Given the description of an element on the screen output the (x, y) to click on. 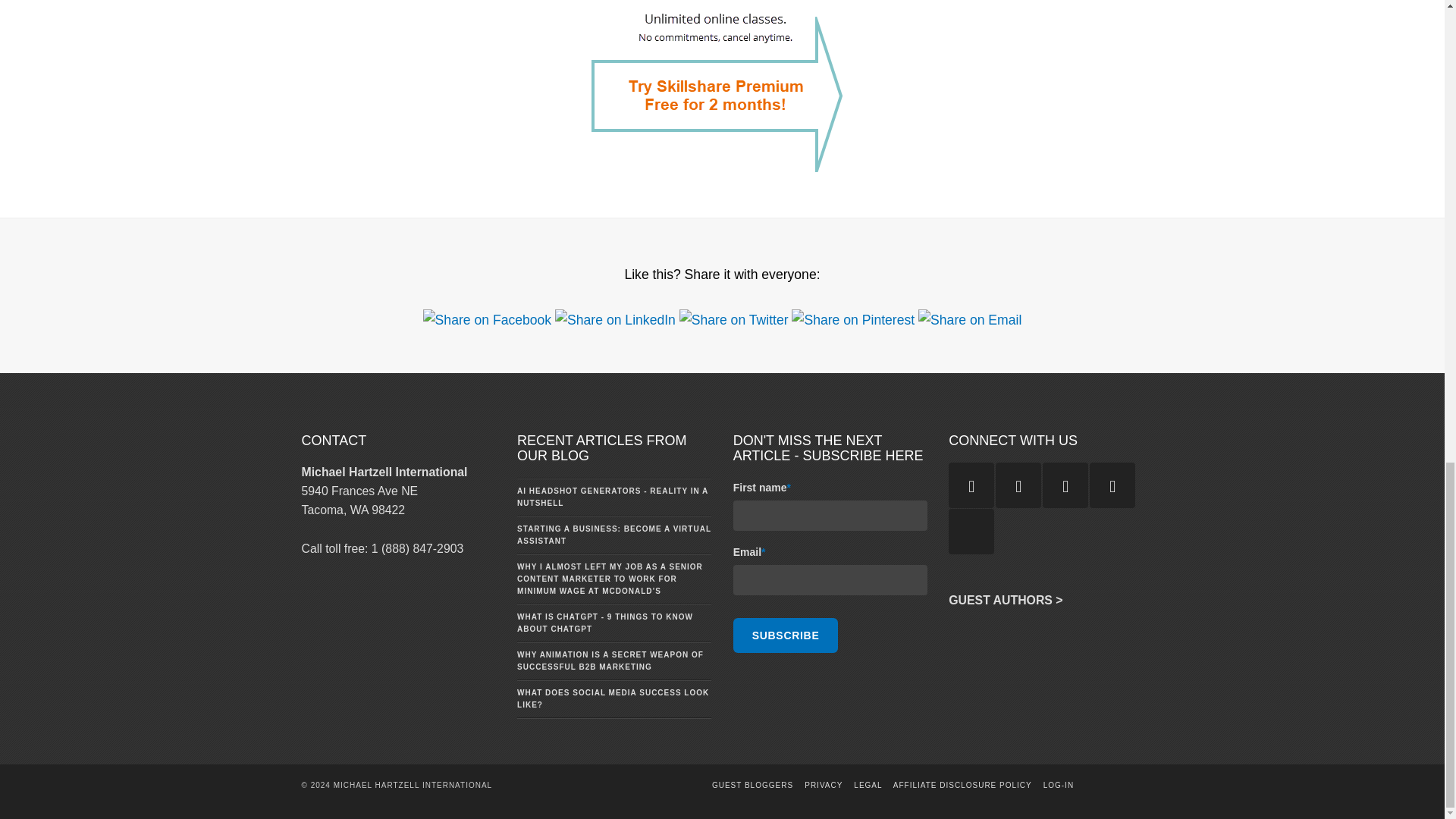
Follow us on Twitter (1064, 484)
Subscribe (785, 635)
Follow us on RSS (971, 484)
Follow us on Linkedin (1018, 484)
Follow us on Googleplus (971, 531)
skillshare-learn-more-2.png (721, 85)
Log-in (1058, 785)
Follow us on Facebook (1112, 484)
